Given the description of an element on the screen output the (x, y) to click on. 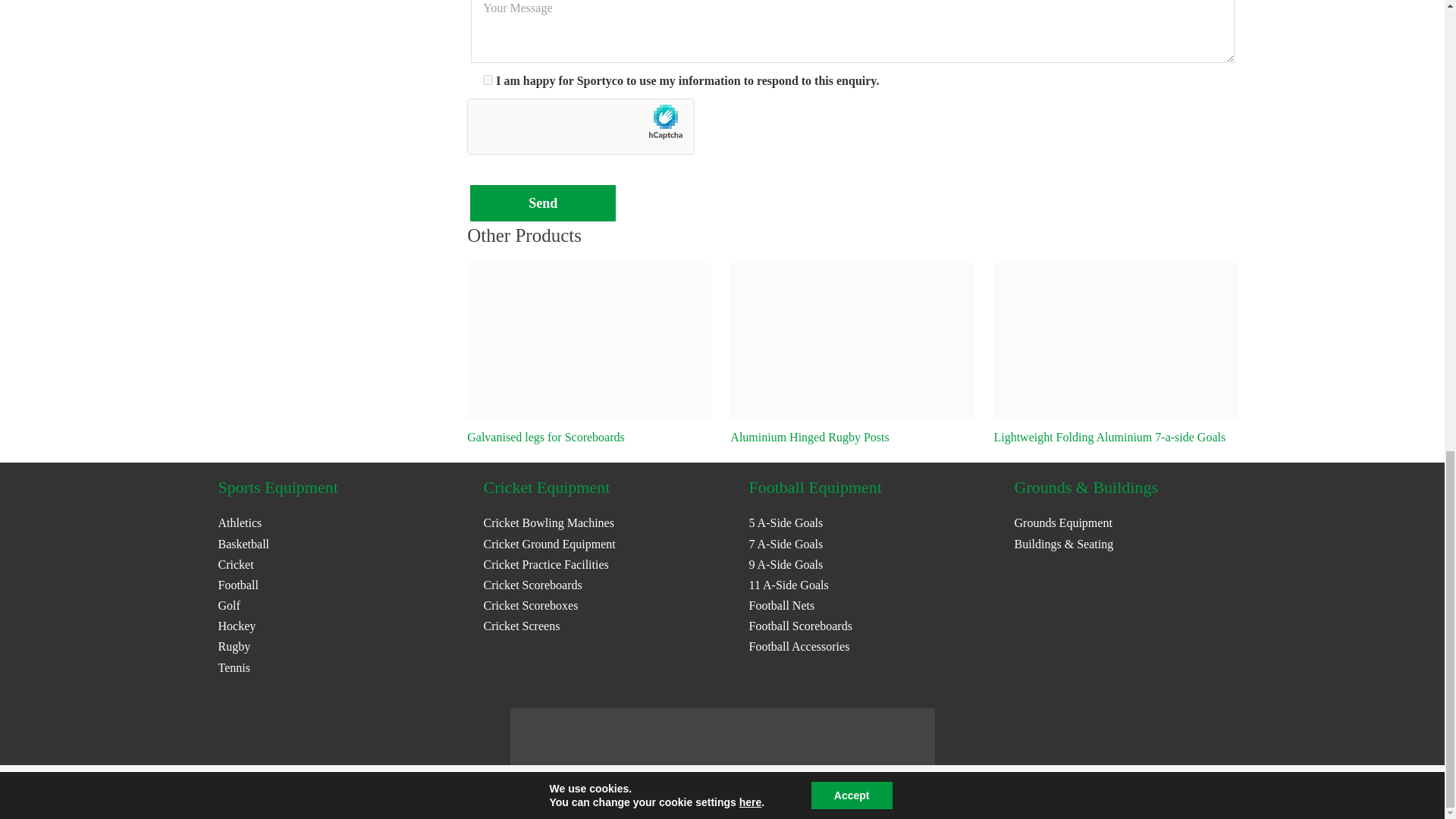
Tennis (234, 667)
1 (488, 80)
Cricket Ground Equipment (549, 543)
Golf (229, 604)
Rugby (234, 645)
Cricket (235, 563)
Send (542, 202)
Basketball (243, 543)
Athletics (240, 522)
Hockey (237, 625)
